Given the description of an element on the screen output the (x, y) to click on. 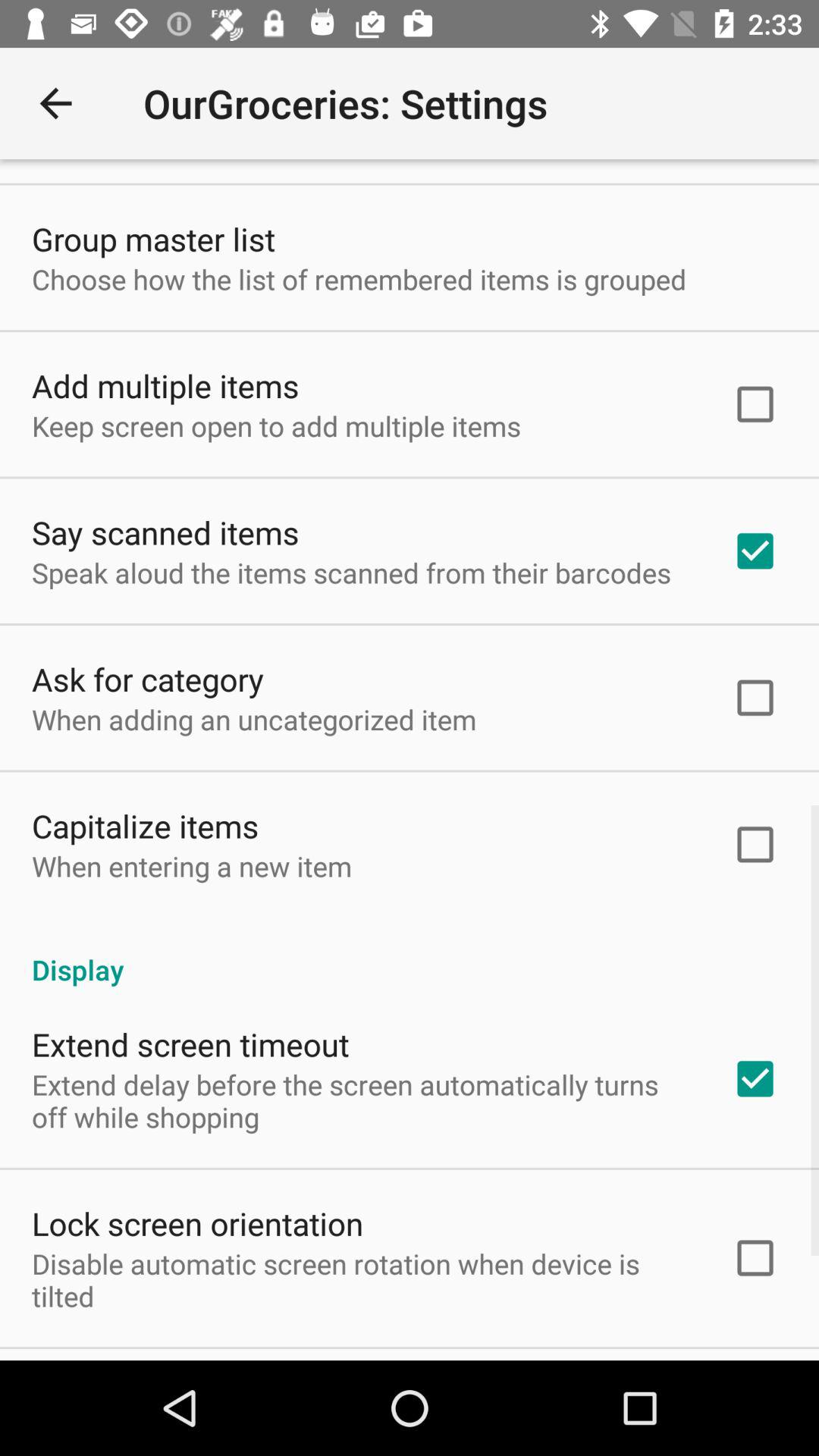
swipe until ask for category icon (147, 678)
